Given the description of an element on the screen output the (x, y) to click on. 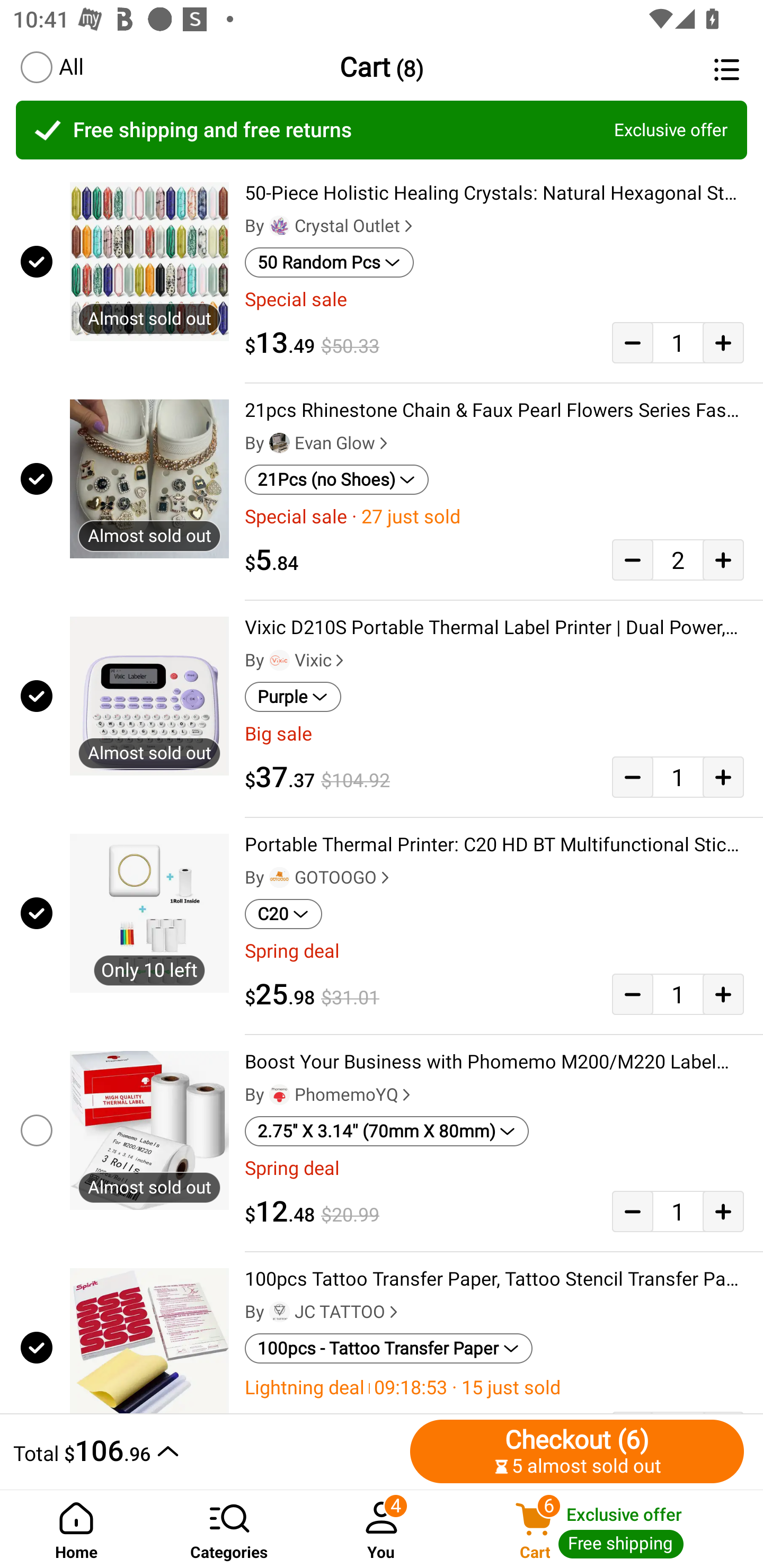
Select all tick button All (51, 67)
Free shipping and free returns Exclusive offer (381, 129)
Product checkbox checked (35, 260)
By Crystal Outlet (330, 226)
50 Random Pcs (328, 262)
Special sale (493, 299)
Decrease quantity button (632, 342)
1 (677, 342)
Add quantity button (722, 342)
Product checkbox checked (35, 478)
By Evan Glow (317, 442)
21Pcs (no Shoes) (336, 479)
Decrease quantity button (632, 559)
2 (677, 559)
Add quantity button (722, 559)
Product checkbox checked (35, 696)
By Vixic (295, 660)
Purple (292, 696)
Decrease quantity button (632, 776)
1 (677, 776)
Add quantity button (722, 776)
Product checkbox checked (35, 913)
By GOTOOGO (318, 877)
C20 (282, 913)
Spring deal (493, 951)
Decrease quantity button (632, 993)
1 (677, 993)
Add quantity button (722, 993)
Product checkbox uncheck (35, 1130)
By PhomemoYQ (329, 1095)
2.75'' X 3.14'' (70mm X 80mm) (386, 1131)
Decrease quantity button (632, 1211)
1 (677, 1211)
Add quantity button (722, 1211)
Product checkbox checked (35, 1344)
By JC TATTOO (322, 1311)
100pcs - Tattoo Transfer Paper (388, 1348)
Lightning deal | ￼ · 15 just sold (493, 1387)
Total $106.96 (206, 1450)
Checkout Checkout (6) ￼5 almost sold out (576, 1451)
Home (76, 1528)
Categories (228, 1528)
You 4 You (381, 1528)
Cart 6 Cart Exclusive offer (610, 1528)
